Given the description of an element on the screen output the (x, y) to click on. 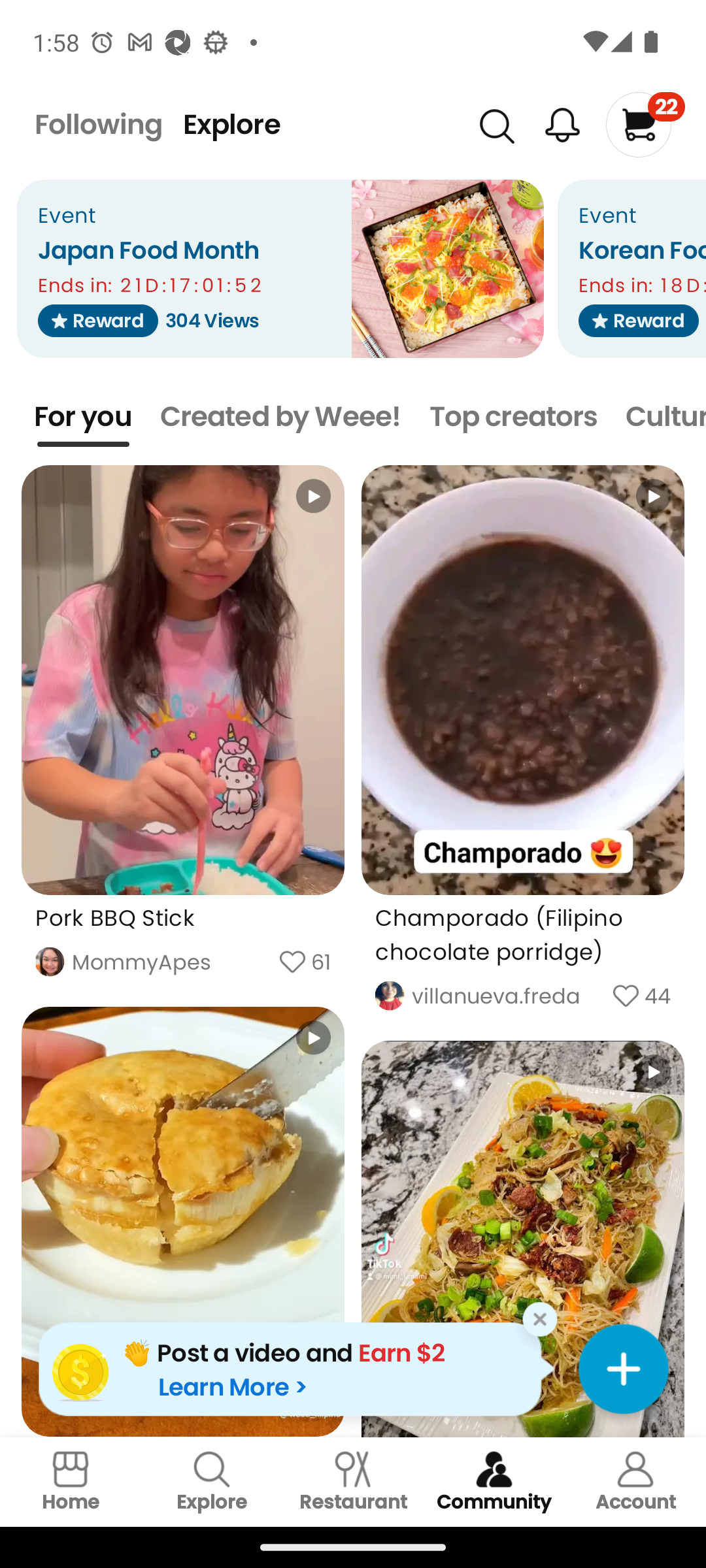
Following (98, 124)
Explore (231, 124)
22 (644, 124)
For you (82, 416)
Created by Weee! (280, 416)
Top creators (512, 416)
Culture (665, 416)
Pork BBQ Stick MommyApes 61 (182, 731)
61 (321, 961)
44 (657, 996)
👏 Post a video and Earn $2 Learn More > (296, 1369)
Home (70, 1482)
Explore (211, 1482)
Restaurant (352, 1482)
Community (493, 1482)
Account (635, 1482)
